Given the description of an element on the screen output the (x, y) to click on. 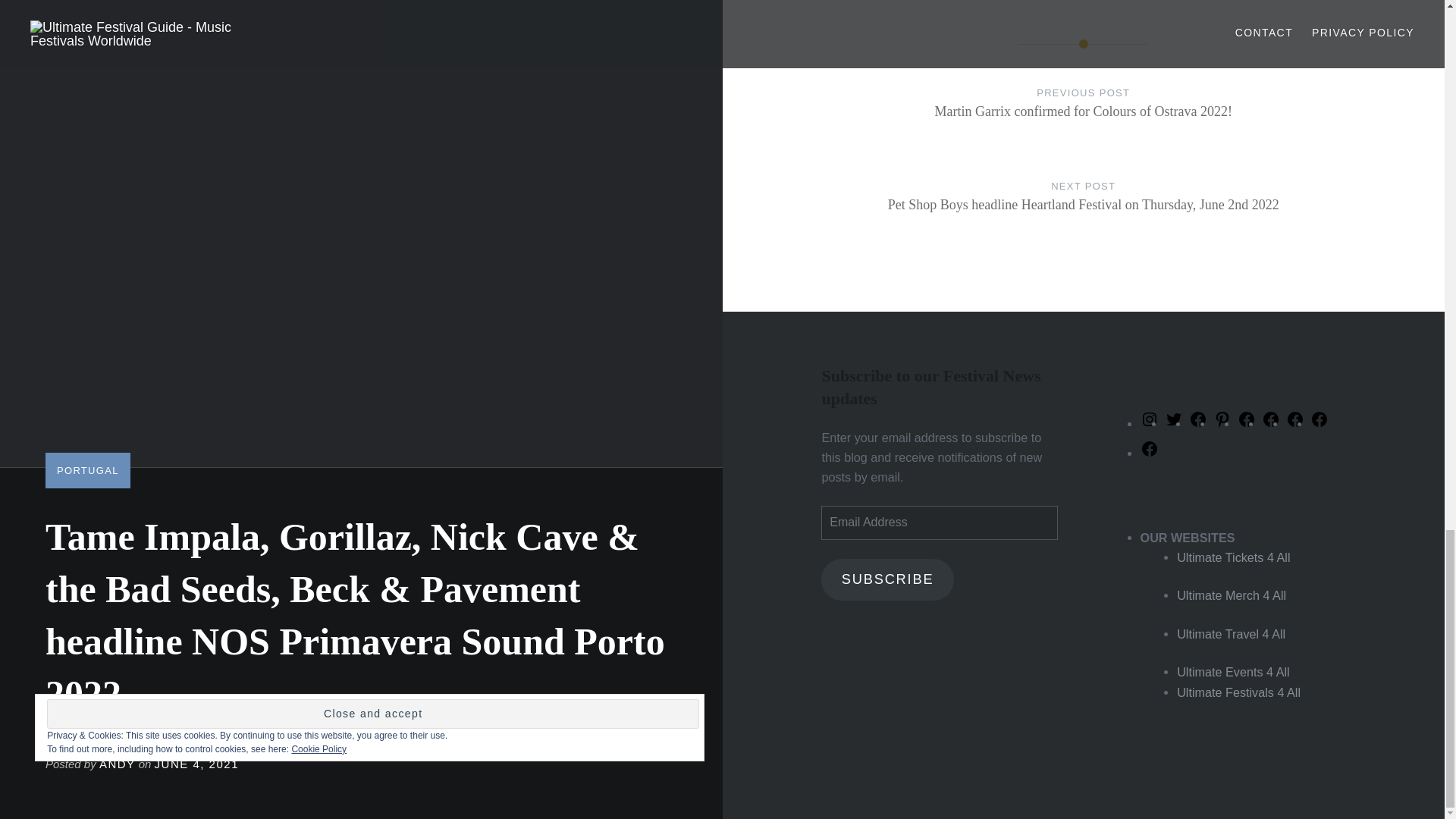
Facebook (1270, 423)
Ultimate Merch 4 All (1230, 594)
Instagram (1149, 423)
Ultimate Tickets 4 All (1233, 557)
Facebook (1198, 423)
Twitter (1173, 423)
Facebook (1318, 423)
Facebook (1246, 423)
Facebook (1294, 423)
Facebook (1149, 453)
Ultimate Events 4 All (1232, 671)
Pinterest (1221, 423)
Ultimate Travel 4 All (1230, 633)
